Given the description of an element on the screen output the (x, y) to click on. 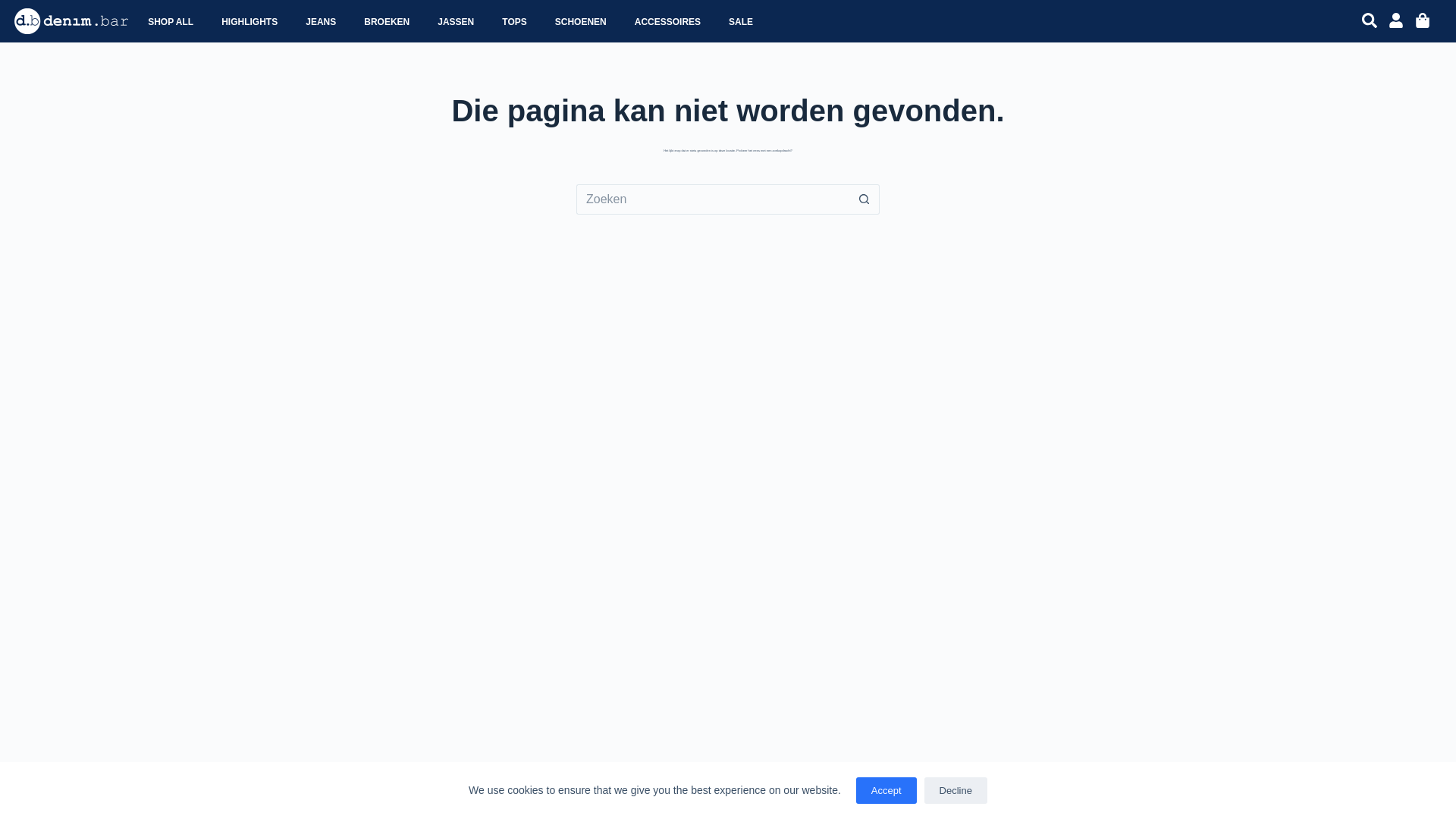
Ga naar de inhoud Element type: text (15, 7)
Accept Element type: text (886, 790)
Zoek naar... Element type: hover (712, 199)
logo_denim.bar_liggend_wit Element type: hover (71, 21)
Decline Element type: text (955, 790)
CreativeThemes Element type: text (498, 791)
